Given the description of an element on the screen output the (x, y) to click on. 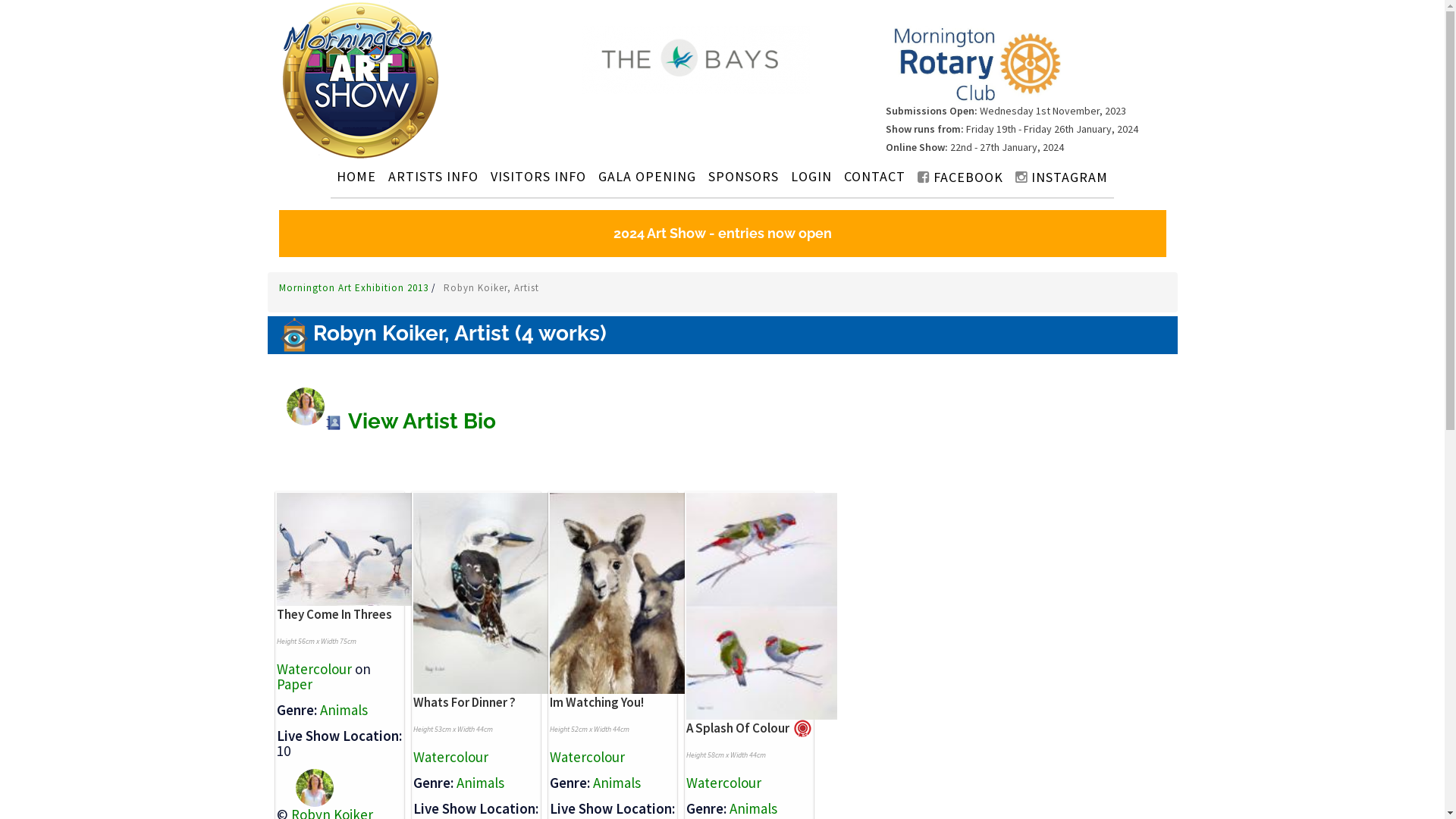
Whats For Dinner ? Element type: text (463, 701)
Watercolour Element type: text (449, 756)
Watercolour Element type: text (313, 668)
2024 Art Show - entries now open Element type: text (722, 233)
LOGIN Element type: text (811, 176)
HOME Element type: text (355, 176)
Animals Element type: text (616, 782)
CONTACT Element type: text (874, 176)
They Come In Threes Element type: text (333, 613)
INSTAGRAM Element type: text (1061, 177)
Paper Element type: text (293, 683)
View all works by Robyn Koiker Element type: hover (304, 786)
View Artist Bio Element type: text (409, 420)
VISITORS INFO Element type: text (537, 176)
Animals Element type: text (480, 782)
FACEBOOK Element type: text (960, 177)
Animals Element type: text (753, 808)
Watercolour Element type: text (586, 756)
Im Watching You! Element type: text (596, 701)
SPONSORS Element type: text (743, 176)
A Splash Of Colour Element type: text (736, 727)
Watercolour Element type: text (722, 782)
GALA OPENING Element type: text (646, 176)
ARTISTS INFO Element type: text (433, 176)
Animals Element type: text (343, 709)
Mornington Art Exhibition 2013 Element type: text (355, 287)
